Given the description of an element on the screen output the (x, y) to click on. 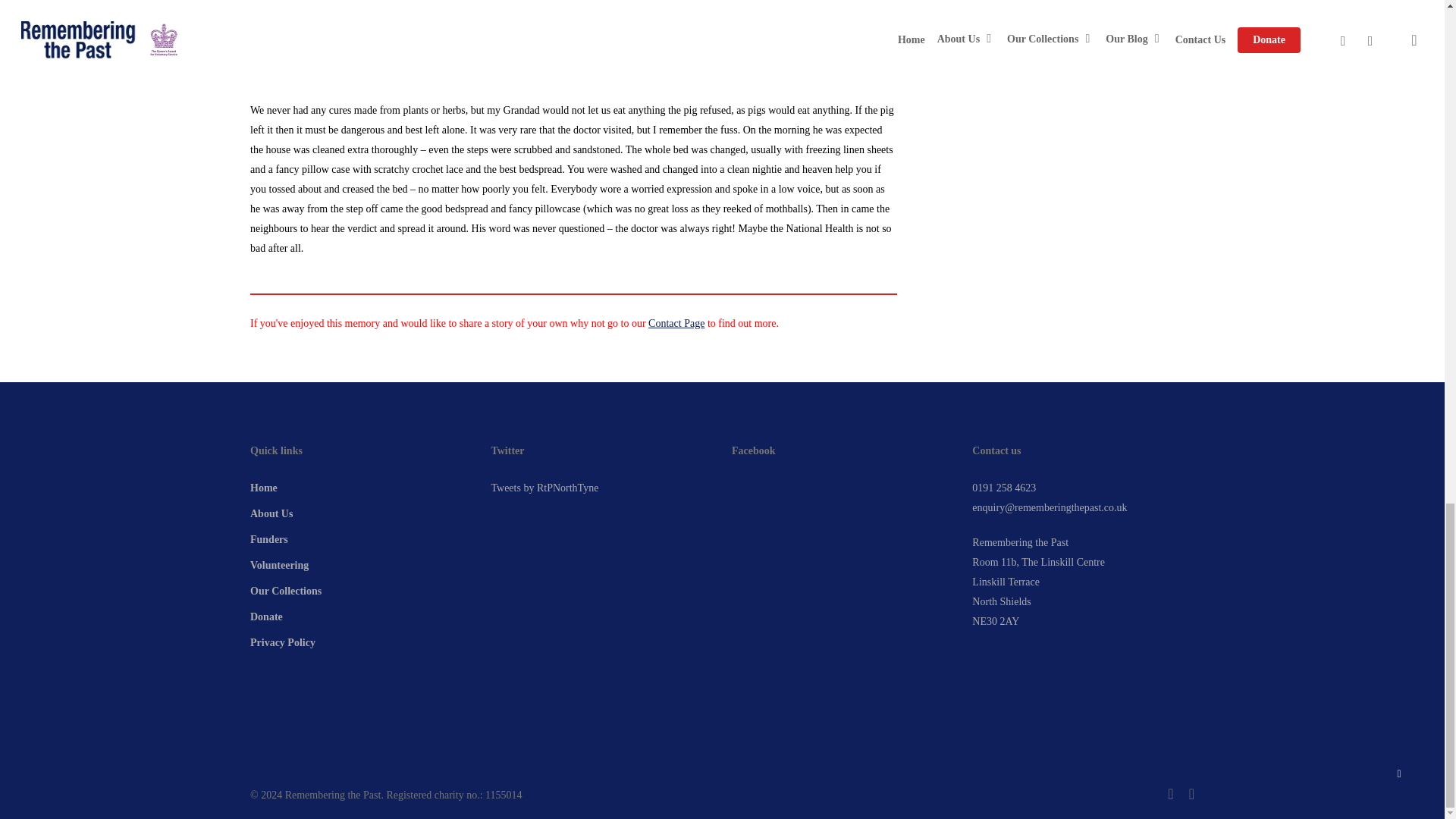
Donate (360, 617)
Contact Page (675, 323)
Privacy Policy (360, 642)
Tweets by RtPNorthTyne (544, 487)
Home (360, 487)
Volunteering (360, 565)
About Us (360, 514)
Our Collections (360, 591)
0191 258 4623 (1003, 487)
Funders (360, 539)
